Given the description of an element on the screen output the (x, y) to click on. 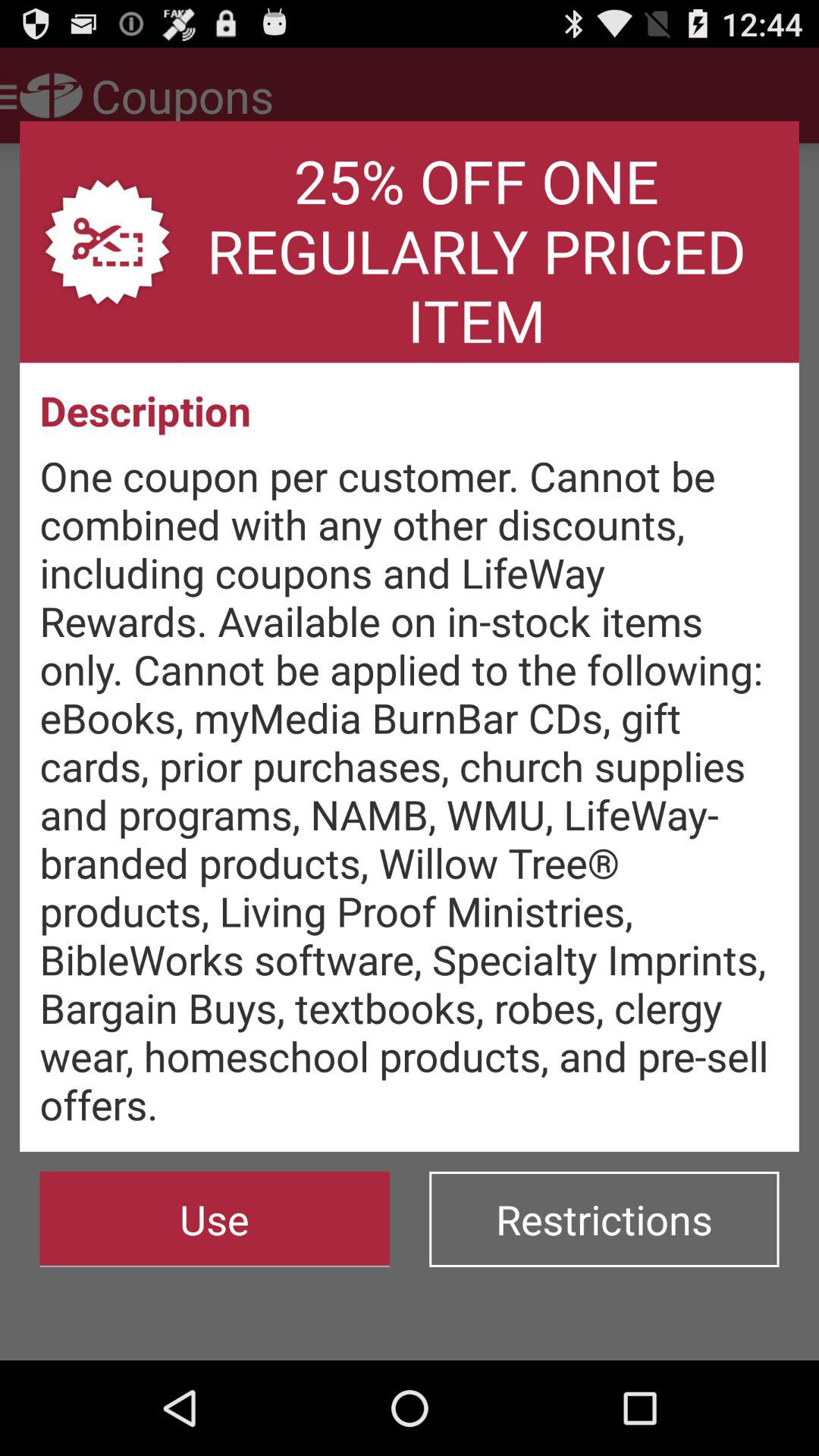
swipe to restrictions icon (604, 1219)
